Given the description of an element on the screen output the (x, y) to click on. 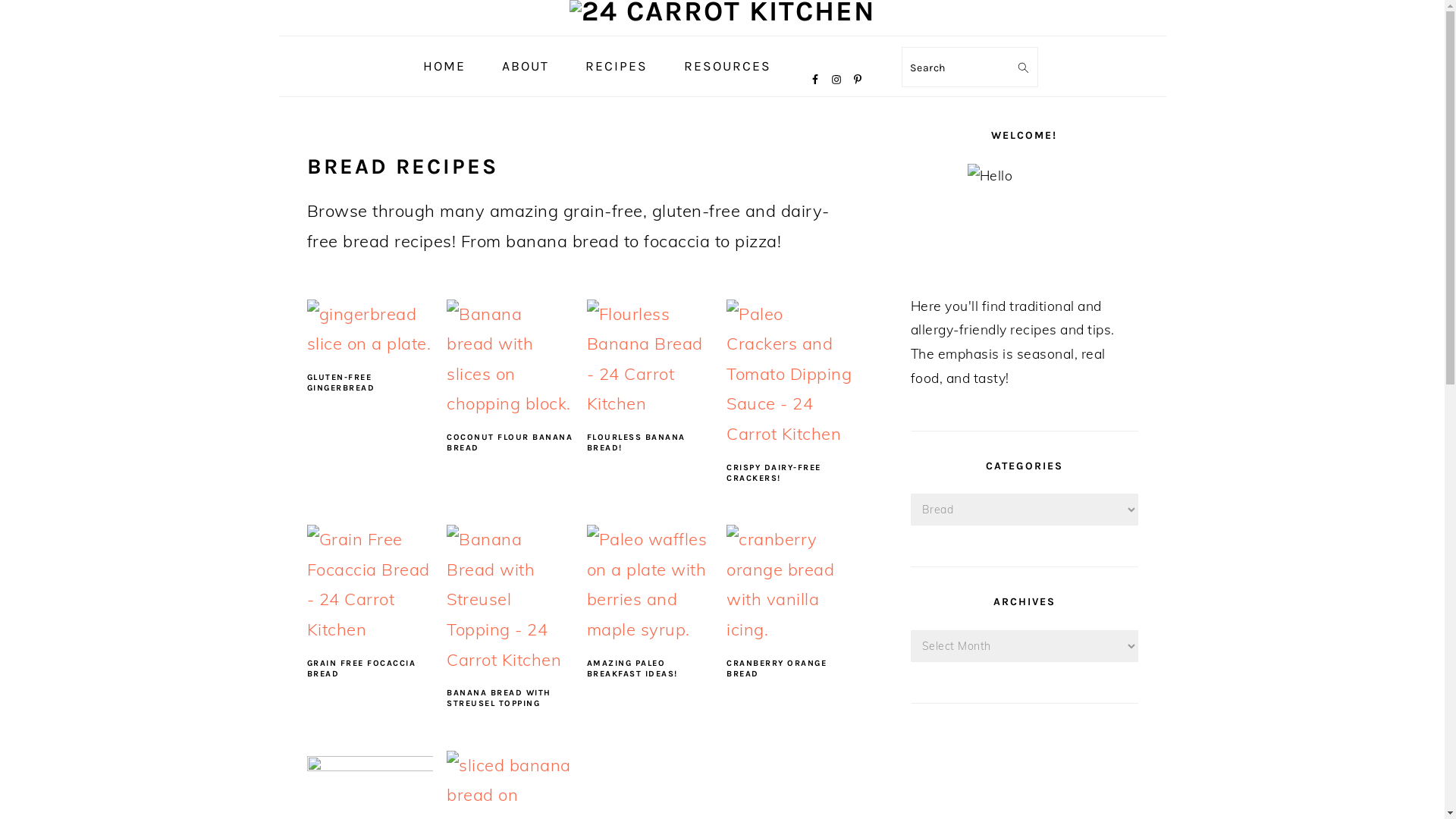
COCONUT FLOUR BANANA BREAD Element type: text (509, 442)
FLOURLESS BANANA BREAD! Element type: text (635, 442)
24 Carrot Kitchen Element type: hover (721, 11)
GRAIN FREE FOCACCIA BREAD Element type: text (360, 668)
RESOURCES Element type: text (726, 66)
CRANBERRY ORANGE BREAD Element type: text (776, 668)
GLUTEN-FREE GINGERBREAD Element type: text (340, 382)
BANANA BREAD WITH STREUSEL TOPPING Element type: text (498, 697)
CRISPY DAIRY-FREE CRACKERS! Element type: text (773, 472)
AMAZING PALEO BREAKFAST IDEAS! Element type: text (631, 668)
HOME Element type: text (443, 66)
ABOUT Element type: text (524, 66)
Skip to primary navigation Element type: text (0, 0)
Search Element type: text (1028, 54)
RECIPES Element type: text (615, 66)
